Given the description of an element on the screen output the (x, y) to click on. 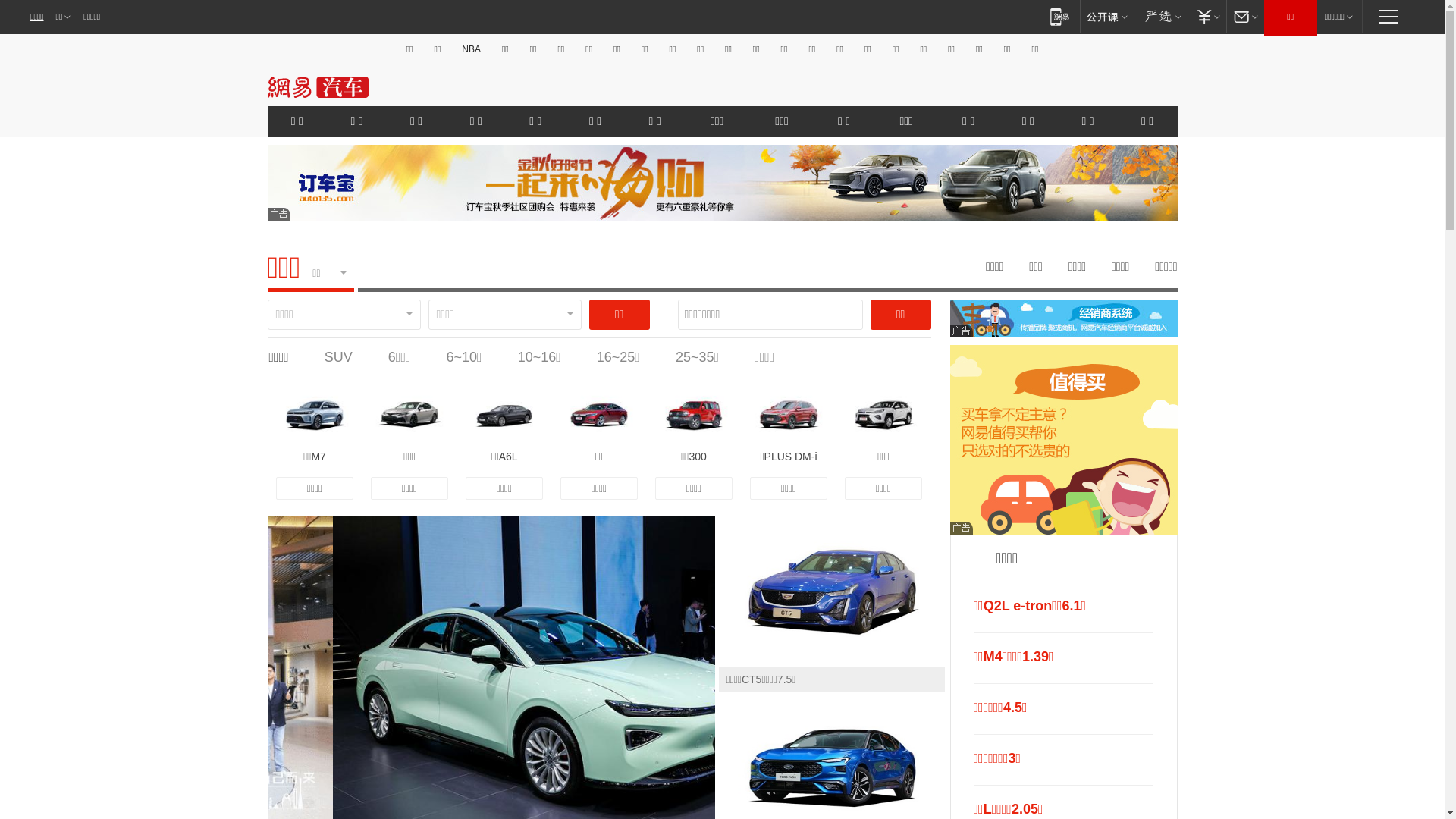
SUV Element type: text (338, 356)
C1 Element type: hover (1062, 318)
NBA Element type: text (471, 48)
B1 Element type: hover (1062, 439)
